Given the description of an element on the screen output the (x, y) to click on. 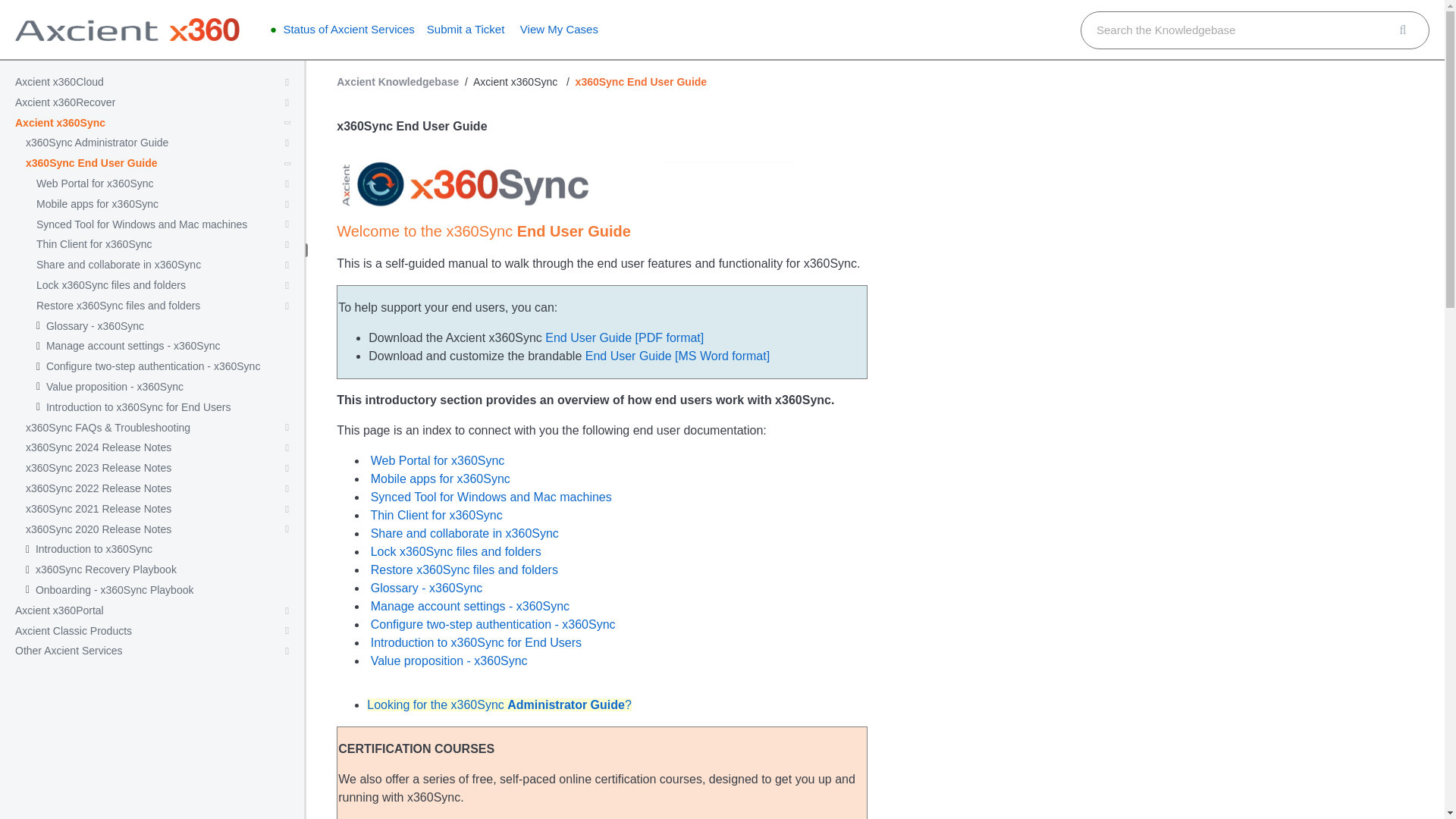
Synced Tool for Windows and Mac machines (141, 224)
Submit a Ticket (465, 29)
x360Sync 2023 Release Notes (98, 468)
Axcient x360Cloud (58, 82)
Introduction to x360Sync for End Users (138, 407)
Lock x360Sync files and folders (111, 285)
Axcient x360Recover (64, 102)
x360Sync Administrator Guide (97, 142)
Manage account settings - x360Sync (133, 345)
Mobile apps for x360Sync (97, 204)
View My Cases (558, 29)
x360Sync End User Guide (91, 163)
Axcient x360Sync (59, 123)
x360Sync 2024 Release Notes (98, 447)
Value proposition - x360Sync (114, 386)
